Given the description of an element on the screen output the (x, y) to click on. 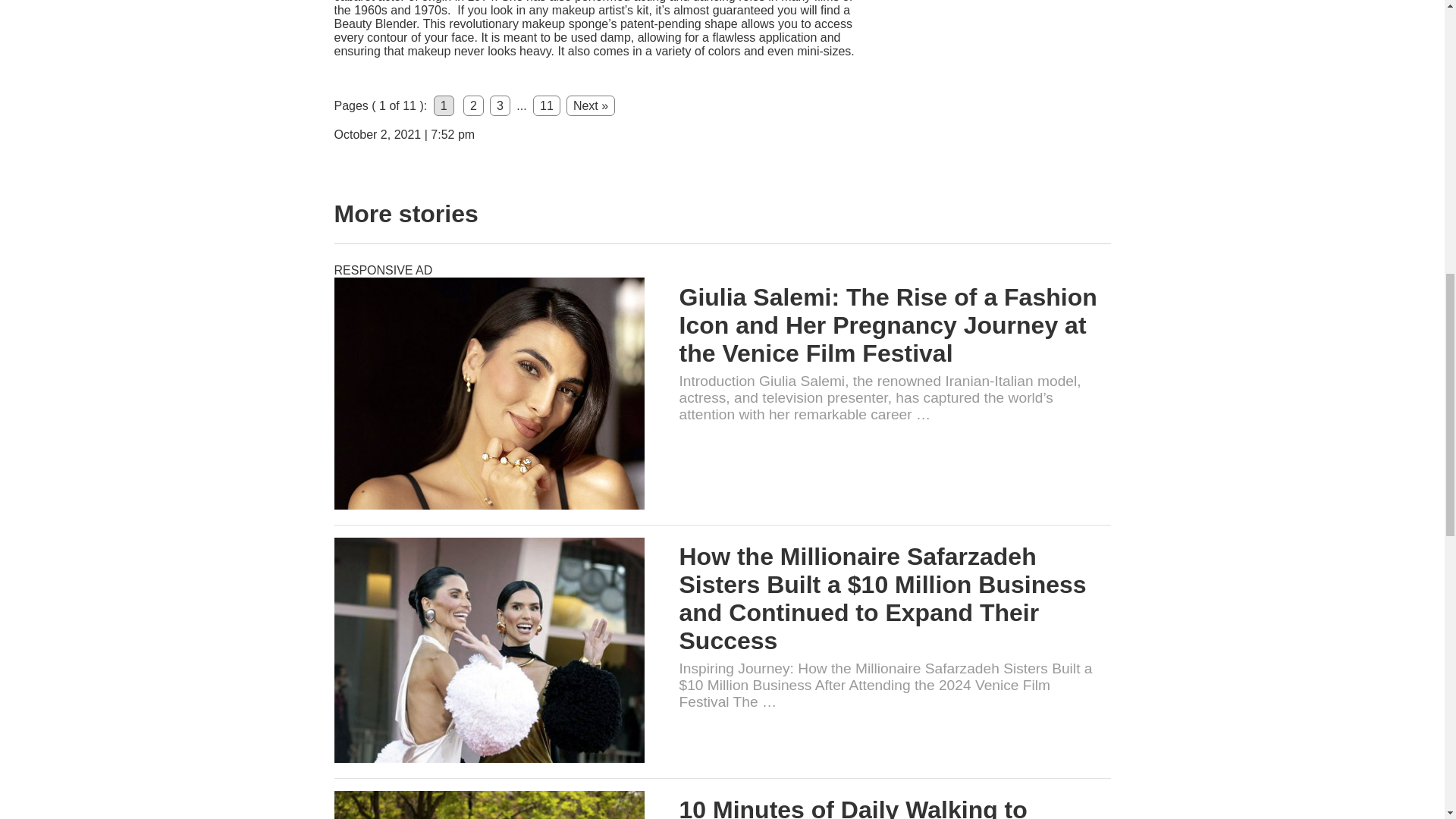
11 (546, 105)
3 (500, 105)
2 (473, 105)
